Given the description of an element on the screen output the (x, y) to click on. 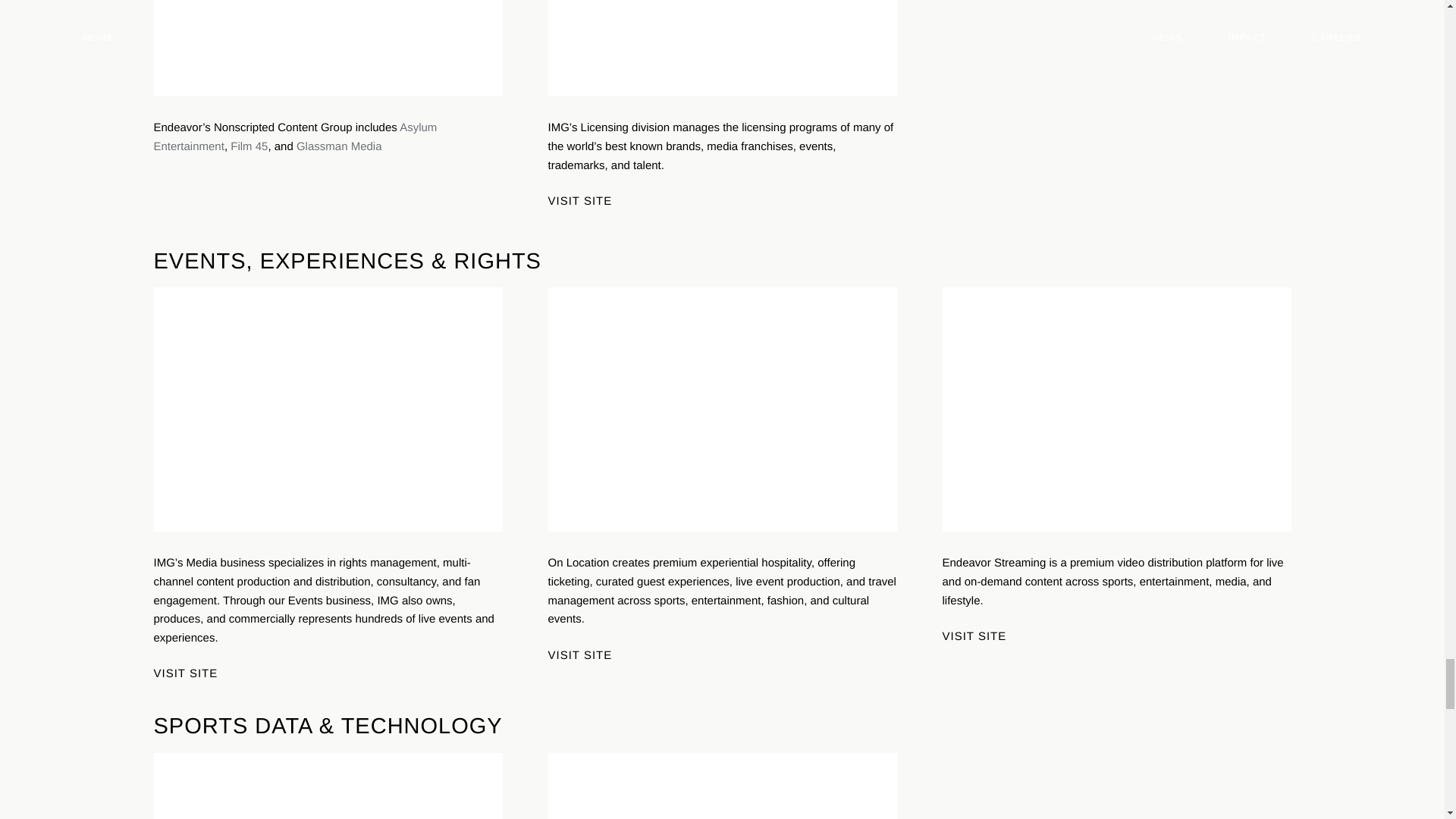
VISIT SITE (589, 655)
Asylum Entertainment (294, 137)
VISIT SITE (194, 673)
Glassman Media (339, 146)
Film 45 (248, 146)
VISIT SITE (984, 635)
VISIT SITE (589, 201)
